Given the description of an element on the screen output the (x, y) to click on. 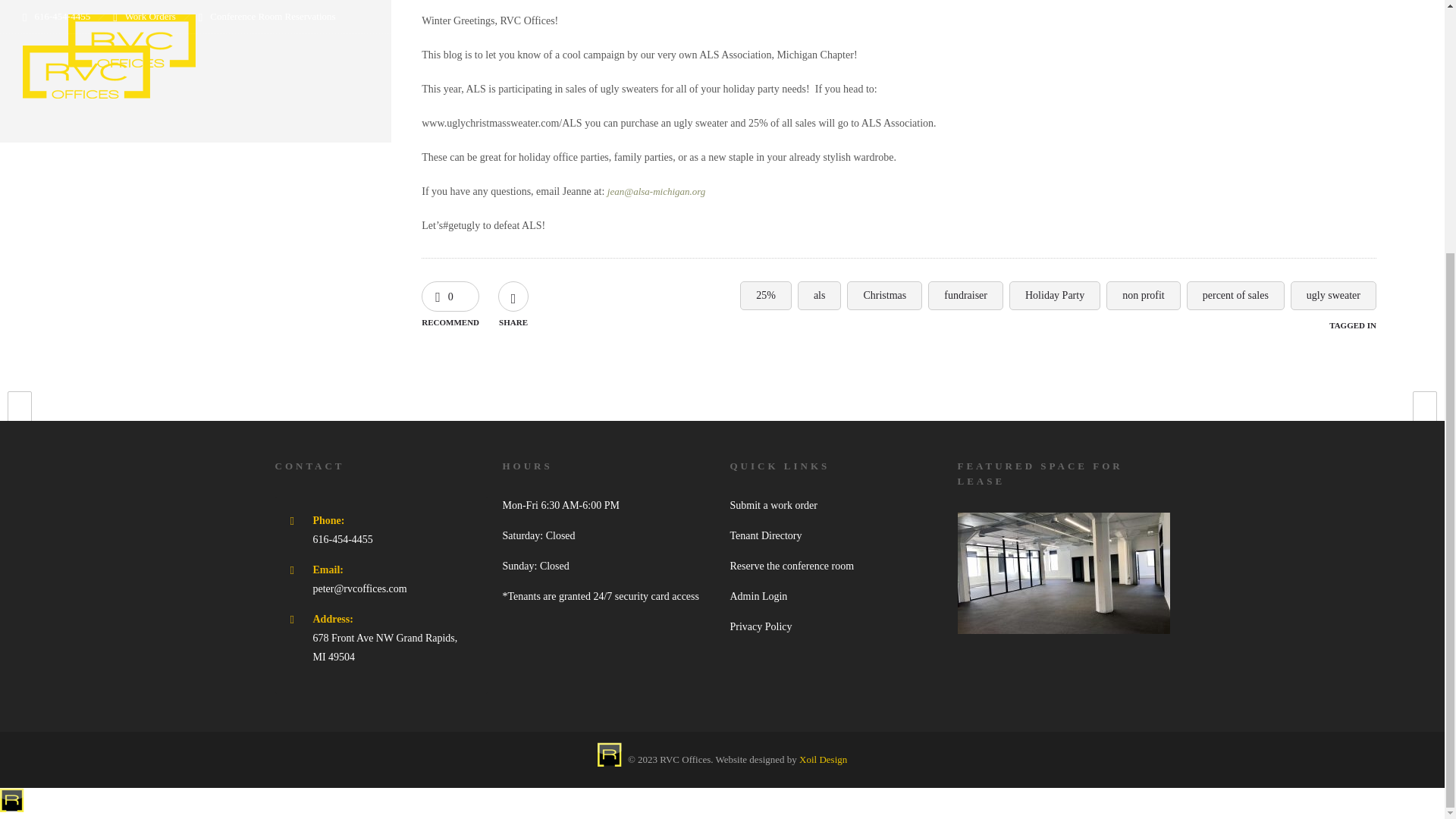
als (819, 295)
fundraiser (965, 295)
Mobile logo (12, 808)
Christmas (884, 295)
